Given the description of an element on the screen output the (x, y) to click on. 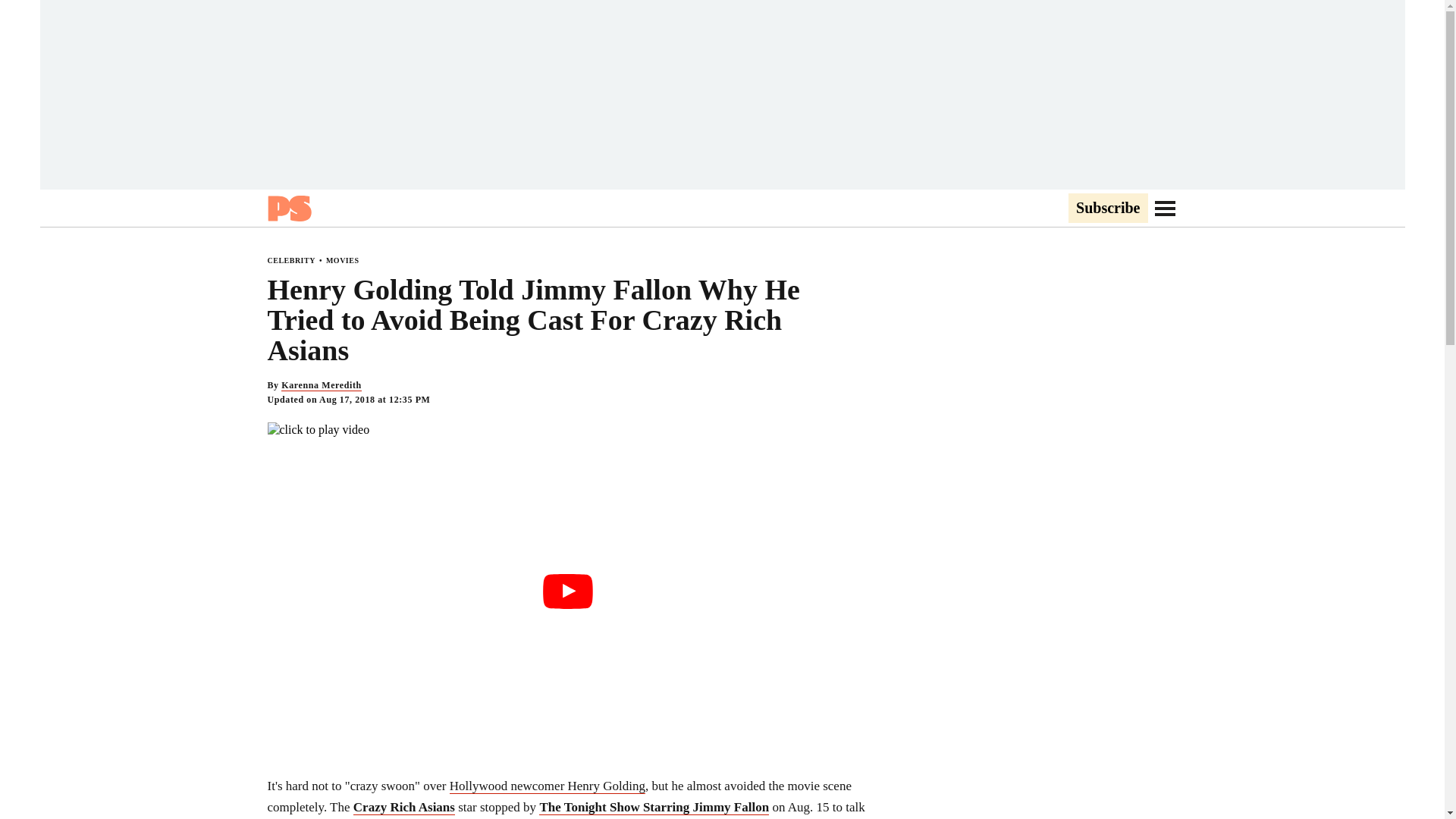
MOVIES (342, 260)
Crazy Rich Asians (403, 806)
Go to Navigation (1164, 207)
Popsugar (288, 208)
Subscribe (1107, 208)
Hollywood newcomer Henry Golding (547, 785)
Go to Navigation (1164, 207)
The Tonight Show Starring Jimmy Fallon (653, 806)
Karenna Meredith (321, 385)
CELEBRITY (290, 260)
